Given the description of an element on the screen output the (x, y) to click on. 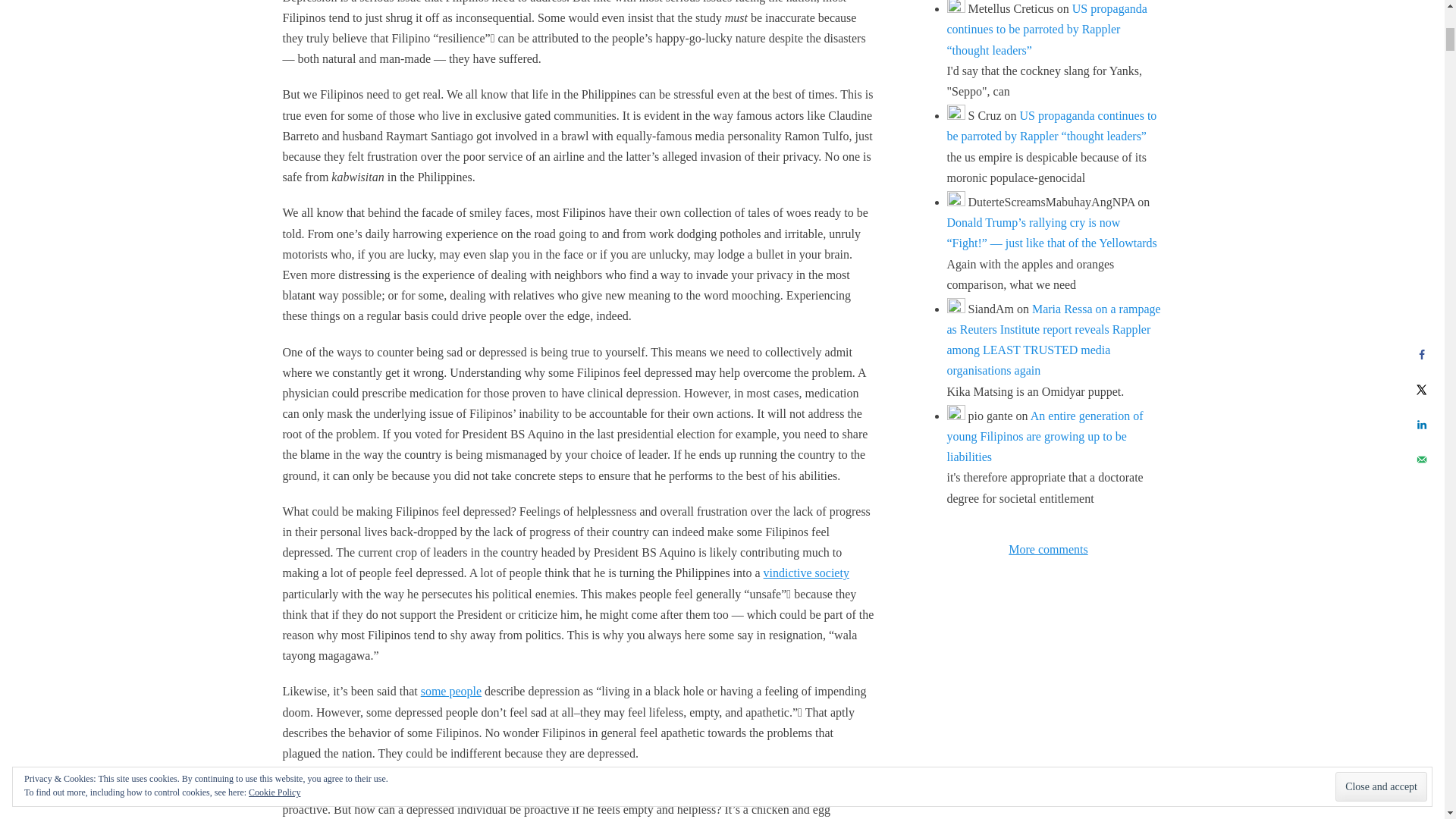
some people (450, 690)
vindictive society (805, 572)
